Given the description of an element on the screen output the (x, y) to click on. 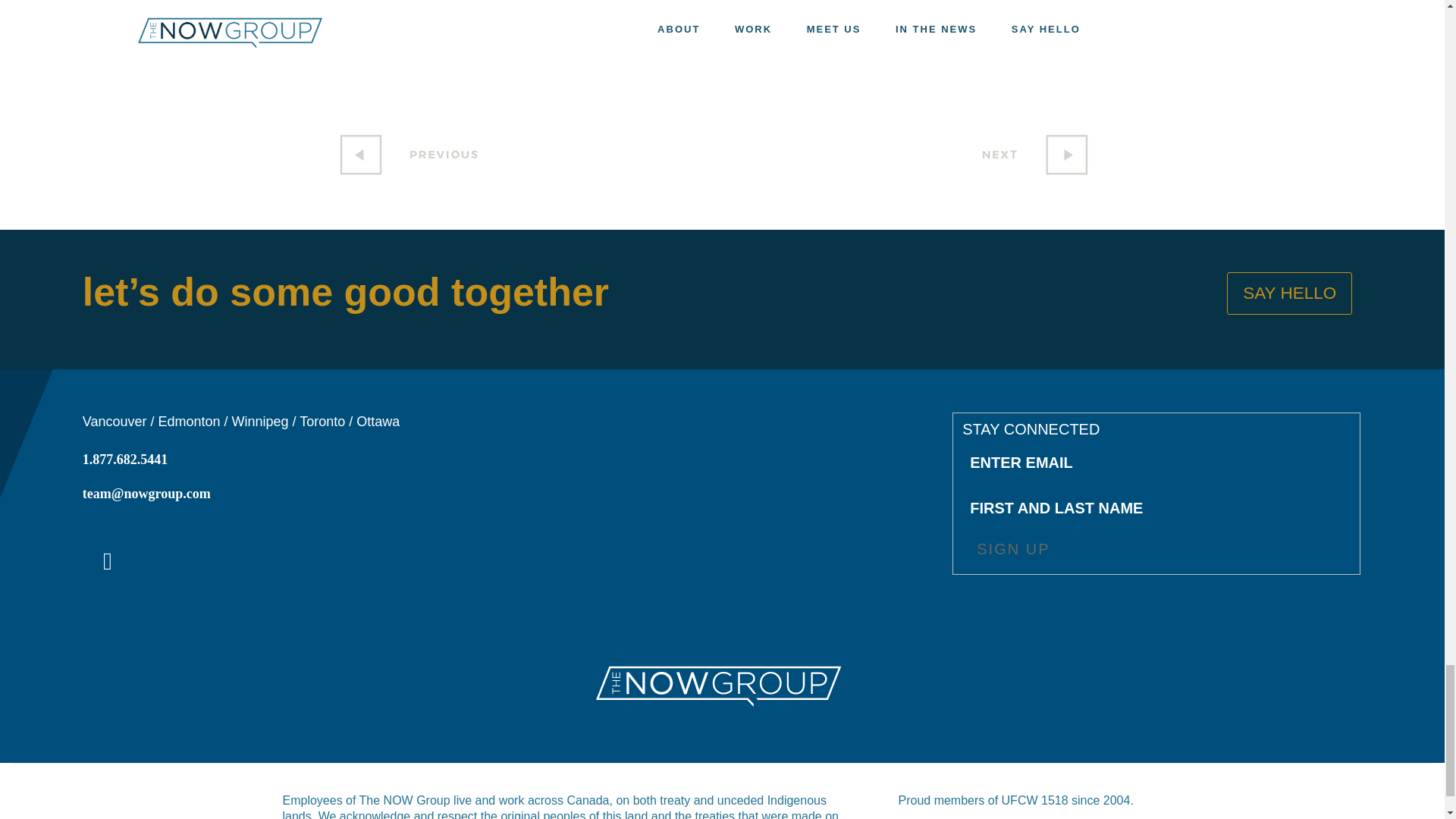
Facebook (366, 54)
SIGN UP (1012, 551)
Twitter (430, 54)
Instagram (523, 54)
LinkedIn (107, 564)
LinkedIn (107, 560)
SAY HELLO (1289, 292)
